Given the description of an element on the screen output the (x, y) to click on. 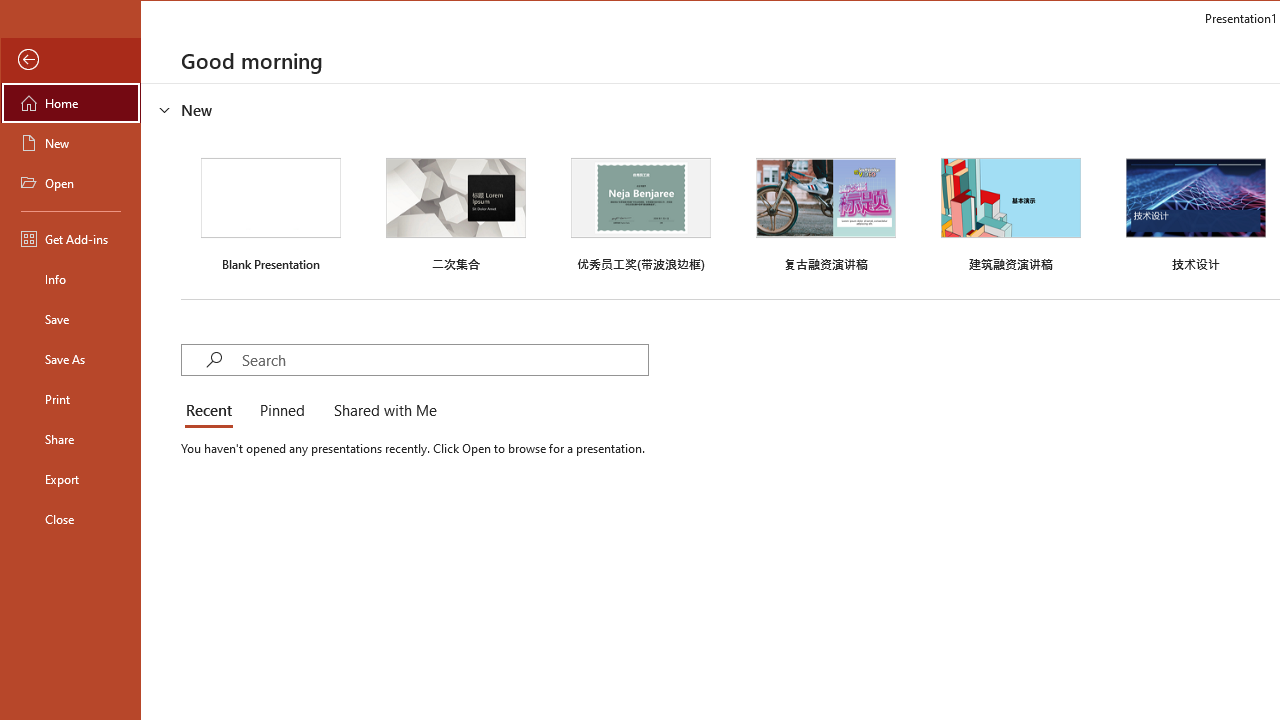
Save As (70, 358)
Shared with Me (381, 411)
New (70, 142)
Recent (212, 411)
Print (70, 398)
Info (70, 278)
Blank Presentation (270, 212)
